Given the description of an element on the screen output the (x, y) to click on. 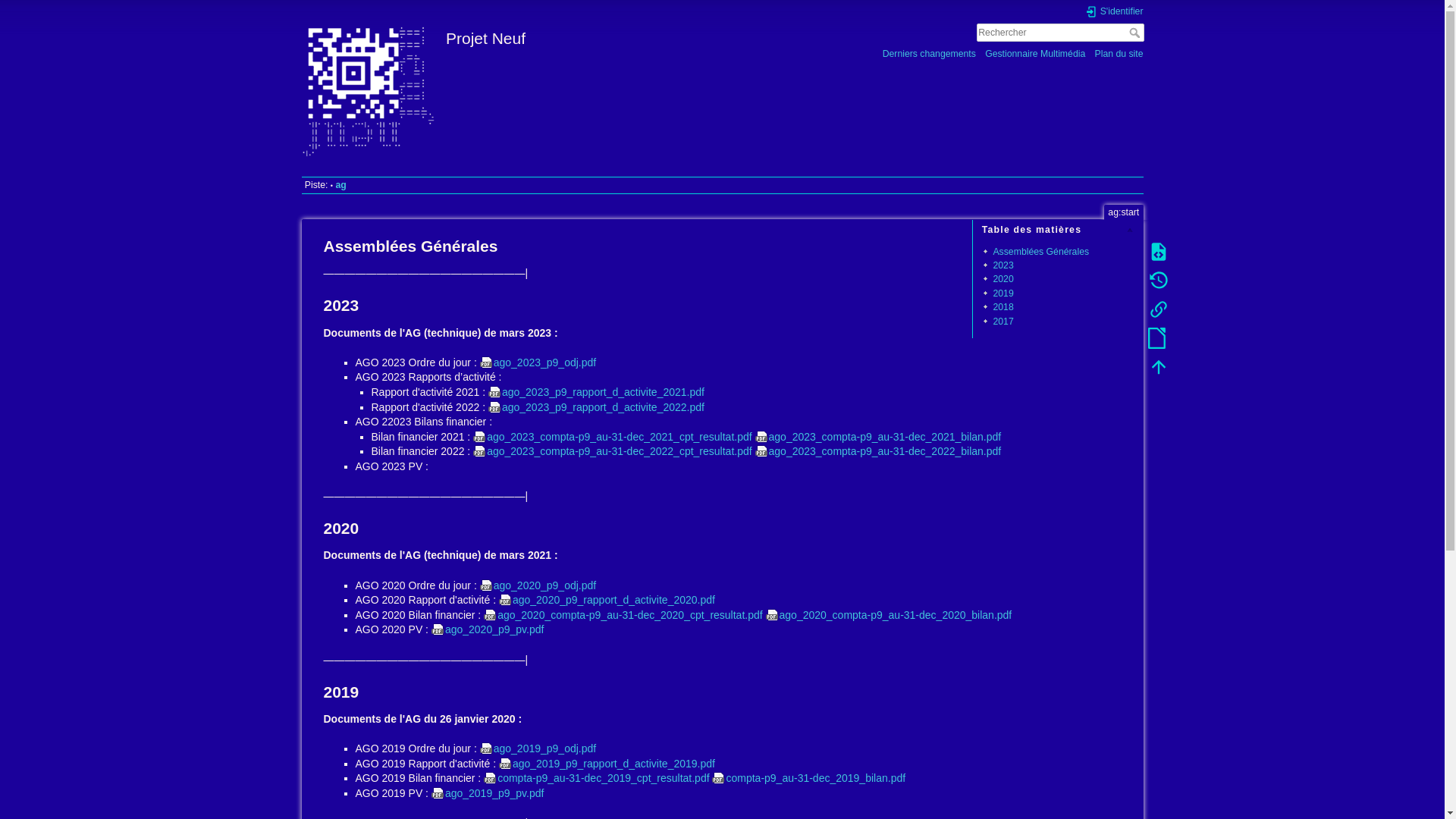
Exportation ODT Element type: hover (1157, 337)
[F] Element type: hover (1060, 32)
Liens de retour Element type: hover (1157, 308)
ago_2019_p9_rapport_d_activite_2019.pdf Element type: text (606, 763)
ago_2019_p9_odj.pdf Element type: text (538, 748)
2019 Element type: text (1002, 293)
ago_2023_p9_rapport_d_activite_2021.pdf Element type: text (596, 391)
2020 Element type: text (1002, 278)
Plan du site Element type: text (1118, 53)
ago_2020_compta-p9_au-31-dec_2020_cpt_resultat.pdf Element type: text (622, 614)
2017 Element type: text (1002, 320)
ago_2020_p9_pv.pdf Element type: text (487, 629)
ago_2020_p9_odj.pdf Element type: text (538, 585)
ago_2023_p9_odj.pdf Element type: text (538, 362)
Derniers changements Element type: text (928, 53)
compta-p9_au-31-dec_2019_cpt_resultat.pdf Element type: text (596, 777)
ago_2019_p9_pv.pdf Element type: text (487, 793)
ag Element type: text (340, 184)
Haut de page [t] Element type: hover (1157, 366)
2023 Element type: text (1002, 265)
compta-p9_au-31-dec_2019_bilan.pdf Element type: text (808, 777)
ago_2023_compta-p9_au-31-dec_2022_cpt_resultat.pdf Element type: text (612, 451)
Rechercher Element type: text (1135, 32)
ago_2023_p9_rapport_d_activite_2022.pdf Element type: text (596, 407)
ago_2023_compta-p9_au-31-dec_2022_bilan.pdf Element type: text (878, 451)
ago_2023_compta-p9_au-31-dec_2021_bilan.pdf Element type: text (878, 436)
Projet Neuf Element type: text (507, 34)
Afficher le texte source [v] Element type: hover (1157, 251)
ago_2023_compta-p9_au-31-dec_2021_cpt_resultat.pdf Element type: text (612, 436)
ago_2020_compta-p9_au-31-dec_2020_bilan.pdf Element type: text (888, 614)
S'identifier Element type: text (1113, 11)
2018 Element type: text (1002, 306)
ago_2020_p9_rapport_d_activite_2020.pdf Element type: text (606, 599)
